Given the description of an element on the screen output the (x, y) to click on. 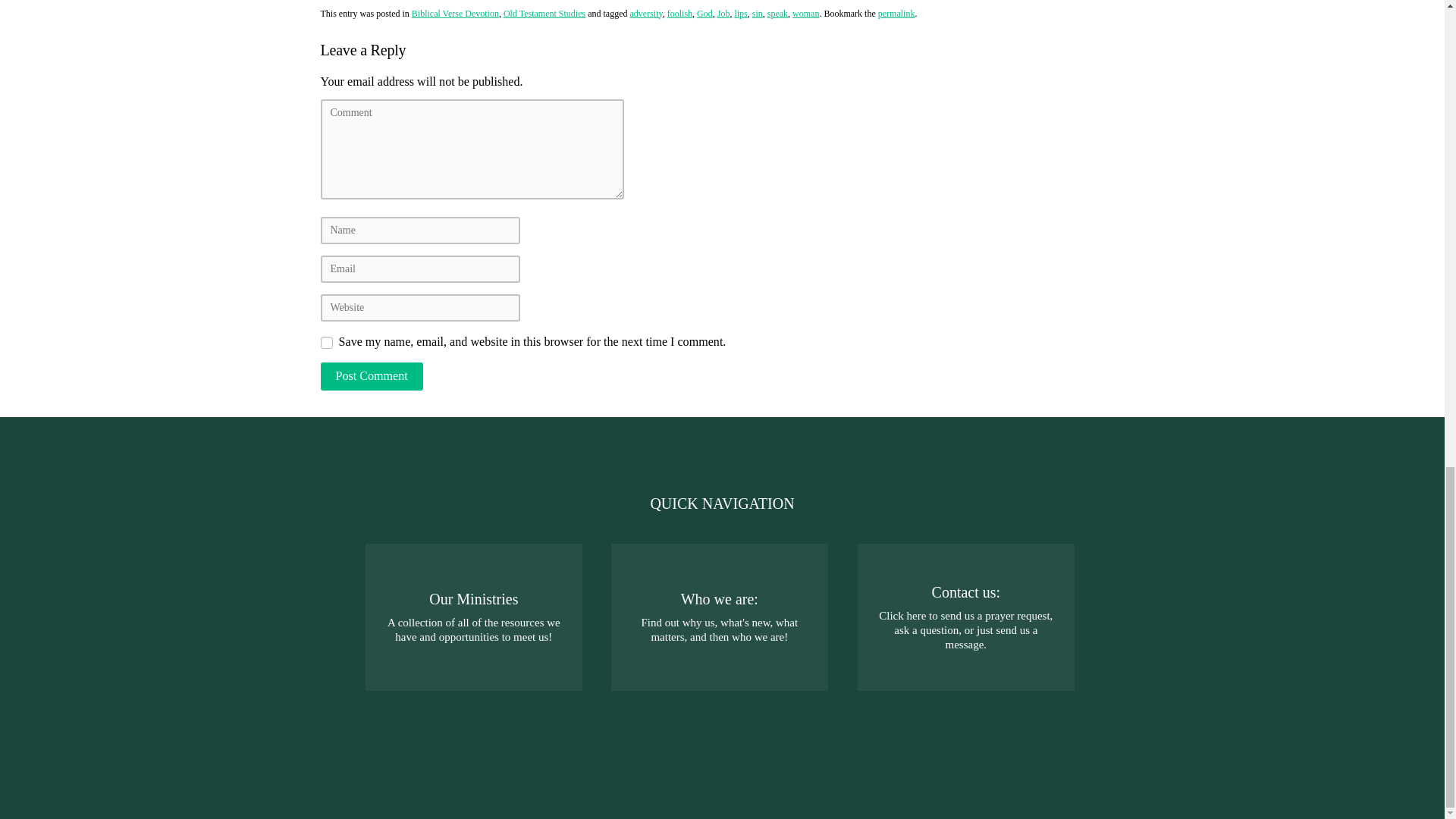
Our Ministries (474, 617)
Permalink to Job 2:10 (896, 13)
foolish (679, 13)
adversity (645, 13)
speak (777, 13)
Old Testament Studies (544, 13)
Job (723, 13)
woman (805, 13)
permalink (896, 13)
lips (739, 13)
God (705, 13)
Biblical Verse Devotion (455, 13)
sin (757, 13)
Post Comment (371, 375)
Who we are: (719, 617)
